Given the description of an element on the screen output the (x, y) to click on. 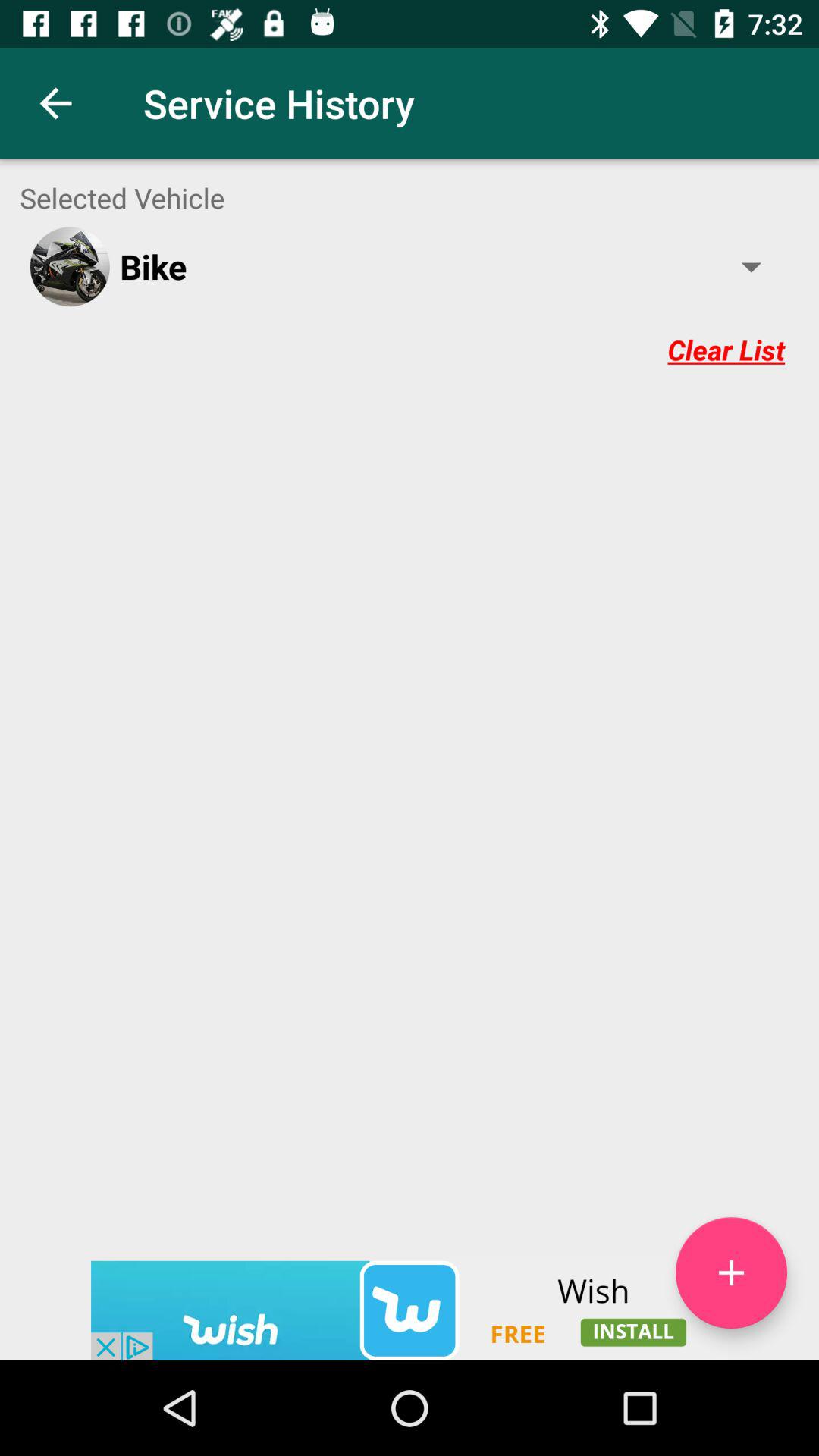
wish app advertisement (409, 1310)
